Given the description of an element on the screen output the (x, y) to click on. 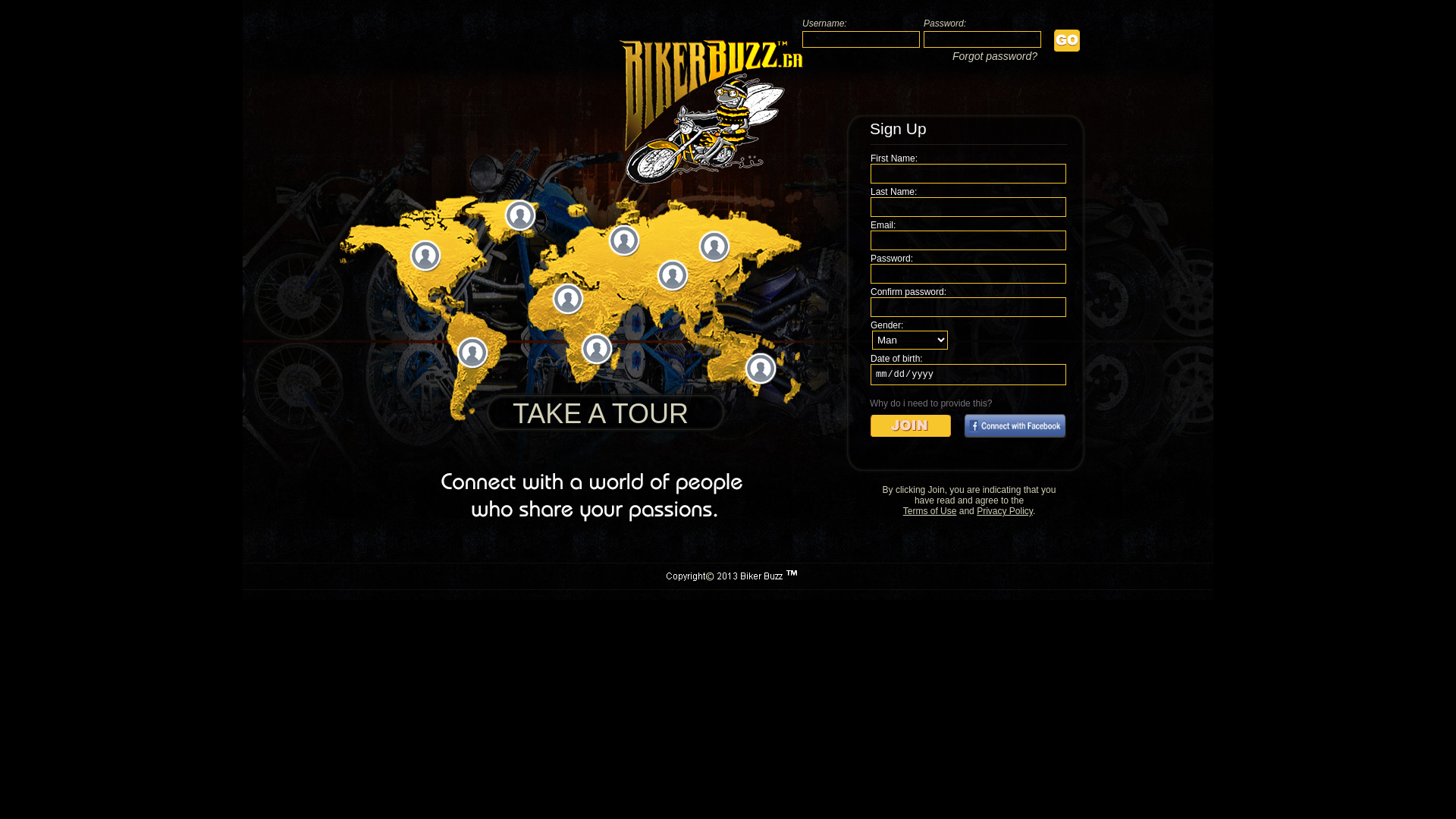
Privacy Policy Element type: text (1004, 510)
Why do i need to provide this? Element type: text (930, 403)
  Element type: text (579, 309)
Terms of Use Element type: text (930, 510)
Forgot password? Element type: text (994, 56)
